Given the description of an element on the screen output the (x, y) to click on. 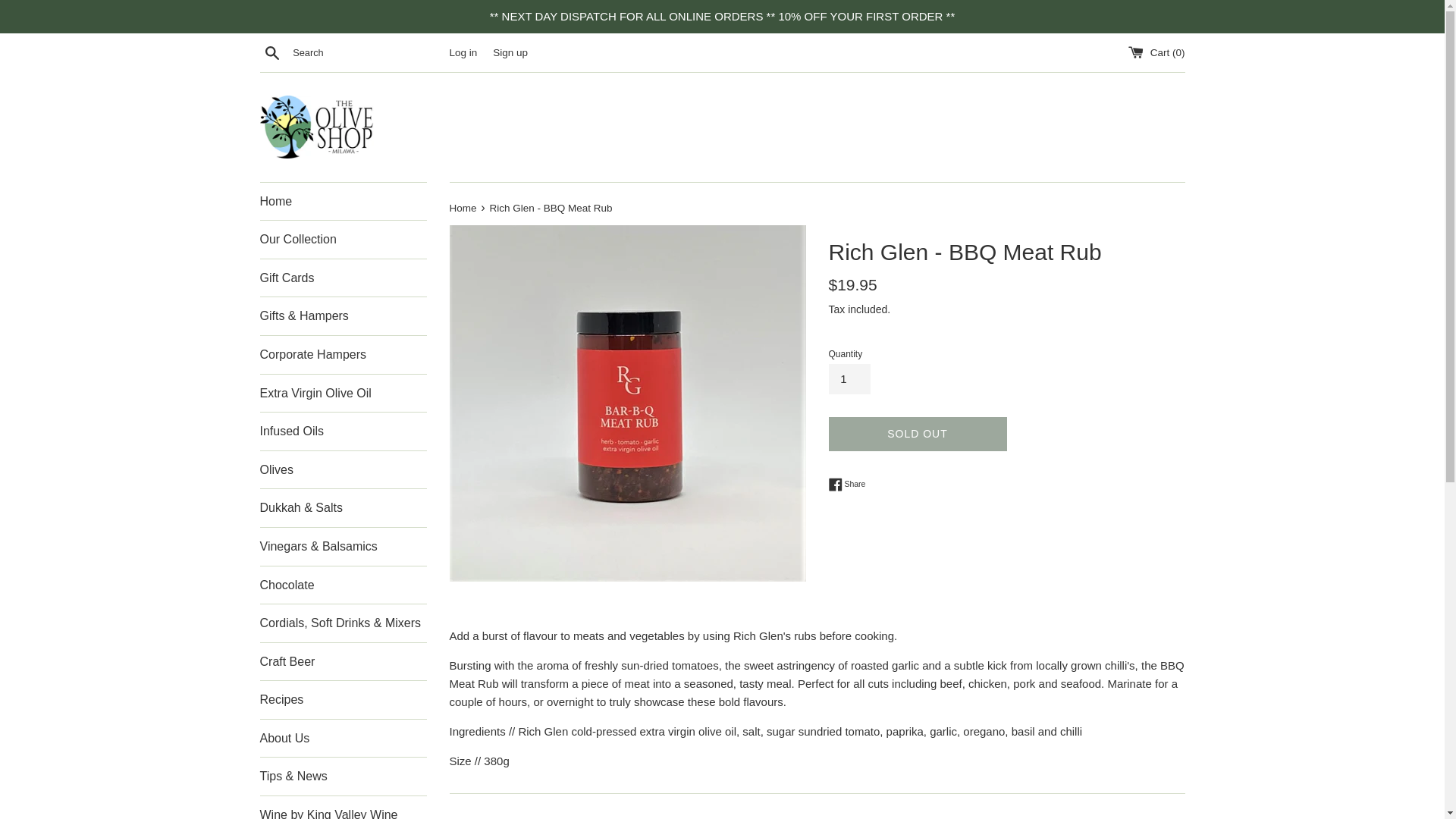
Gift Cards (342, 278)
Corporate Hampers (342, 354)
Home (463, 207)
Craft Beer (342, 661)
Wine by King Valley Wine Cellars (342, 807)
Chocolate (342, 585)
1 (848, 378)
Home (342, 201)
Extra Virgin Olive Oil (342, 393)
Log in (462, 52)
Search (271, 52)
Back to the frontpage (463, 207)
Recipes (342, 699)
Sign up (510, 52)
Infused Oils (342, 431)
